Given the description of an element on the screen output the (x, y) to click on. 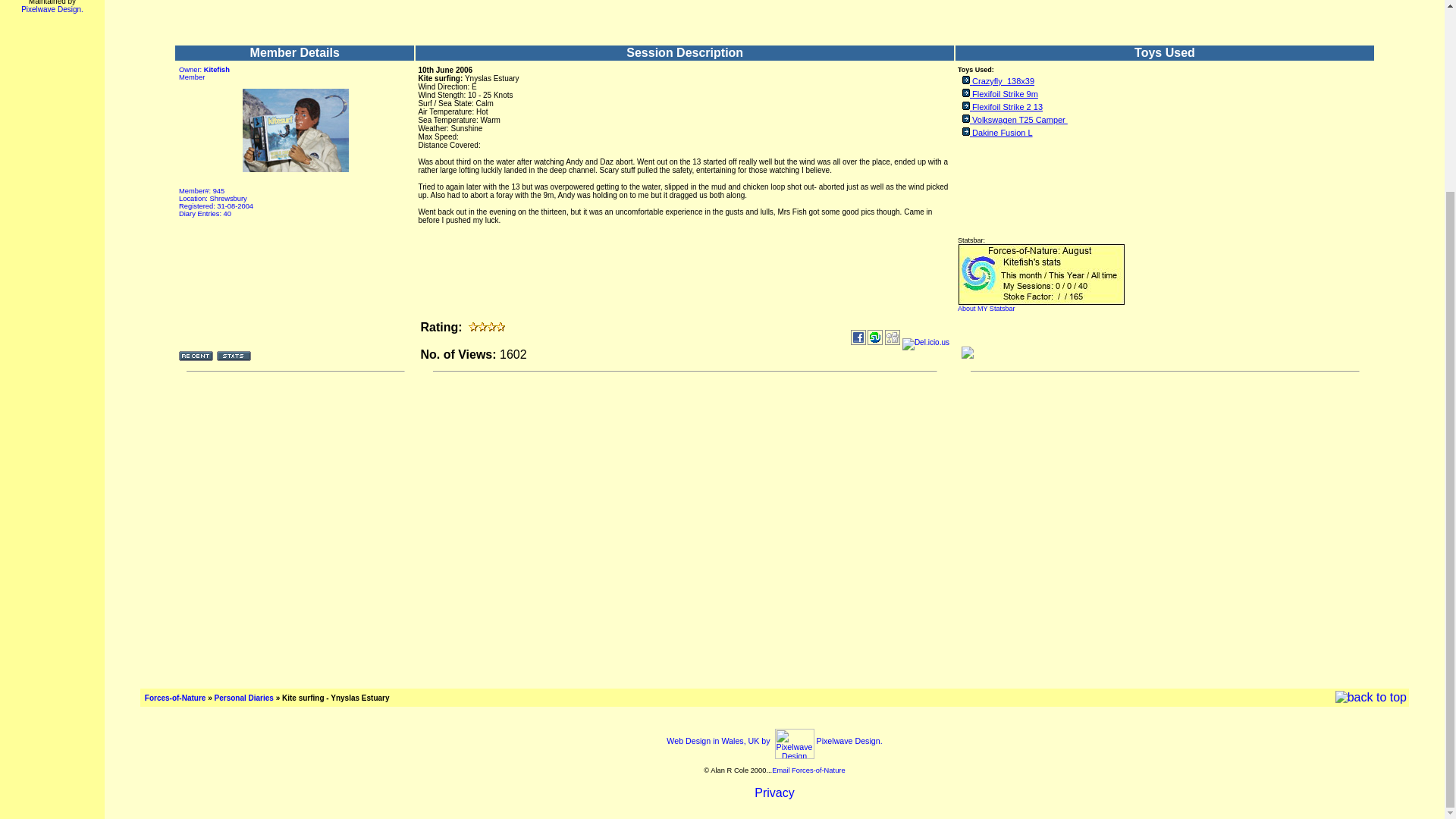
Stumbleupon (874, 337)
Volkswagen T25 Camper  (1019, 119)
Crazyfly  138x39 (1002, 80)
Pixelwave Design. (51, 8)
About MY Statsbar (986, 308)
My Statsbar (986, 308)
Website Design UK (774, 740)
Flexifoil Strike 9m (1005, 93)
Dakine Fusion L (1002, 132)
Del.icio.us (925, 344)
Facebook (858, 337)
Digg (892, 337)
Pixelwave Design (793, 743)
Pixelwave Design (51, 8)
Flexifoil Strike 2 13 (1007, 106)
